Given the description of an element on the screen output the (x, y) to click on. 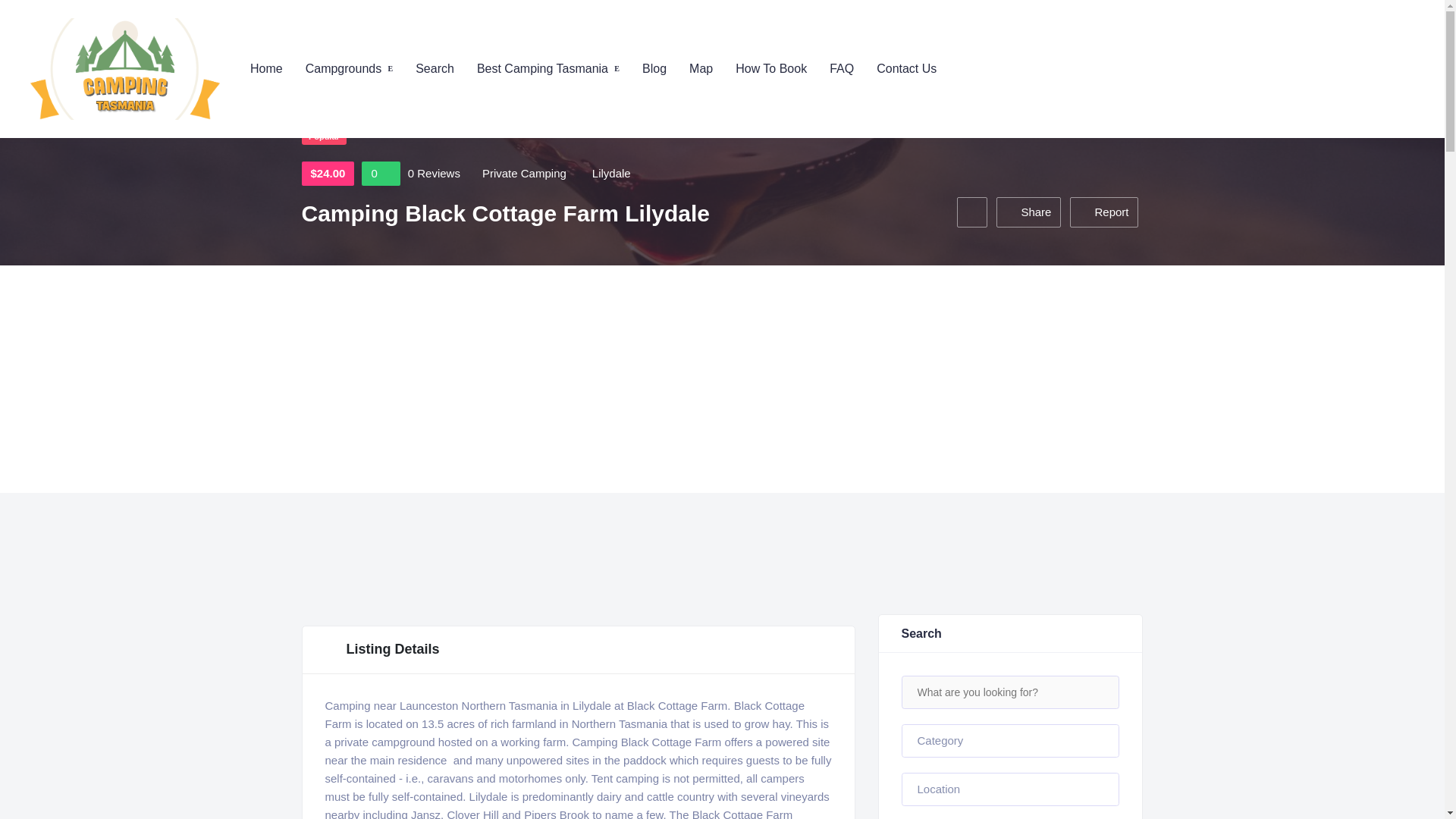
Search (434, 68)
How To Book (770, 68)
Campgrounds (349, 68)
Report (1104, 212)
Map (700, 68)
Contact Us (906, 68)
Lilydale (611, 173)
Best Camping Tasmania (548, 68)
Blog (654, 68)
Private Camping (523, 173)
FAQ (841, 68)
Home (266, 68)
